Given the description of an element on the screen output the (x, y) to click on. 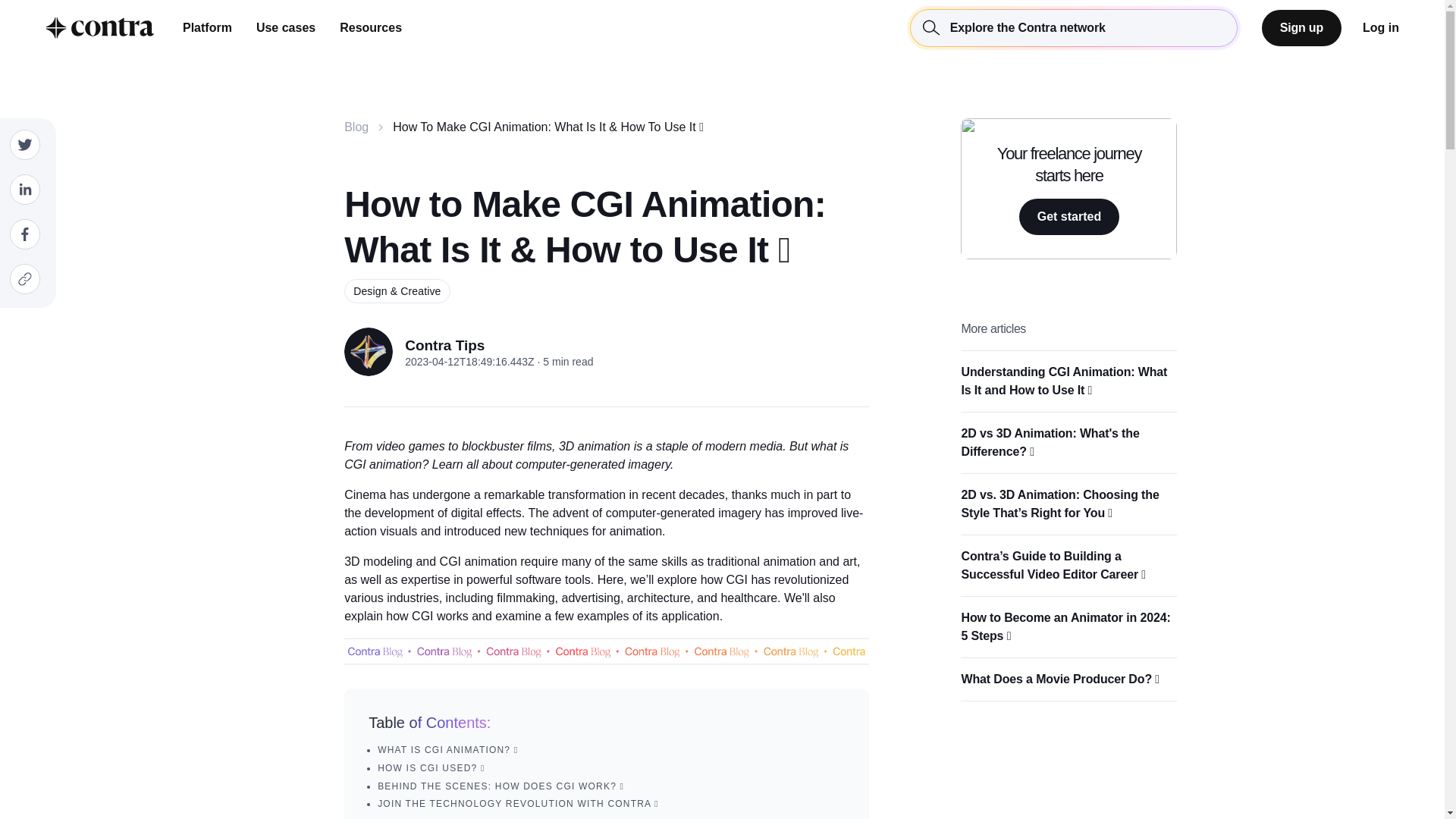
Log in (1380, 27)
Explore the Contra network (100, 28)
Sign up (1073, 27)
